Given the description of an element on the screen output the (x, y) to click on. 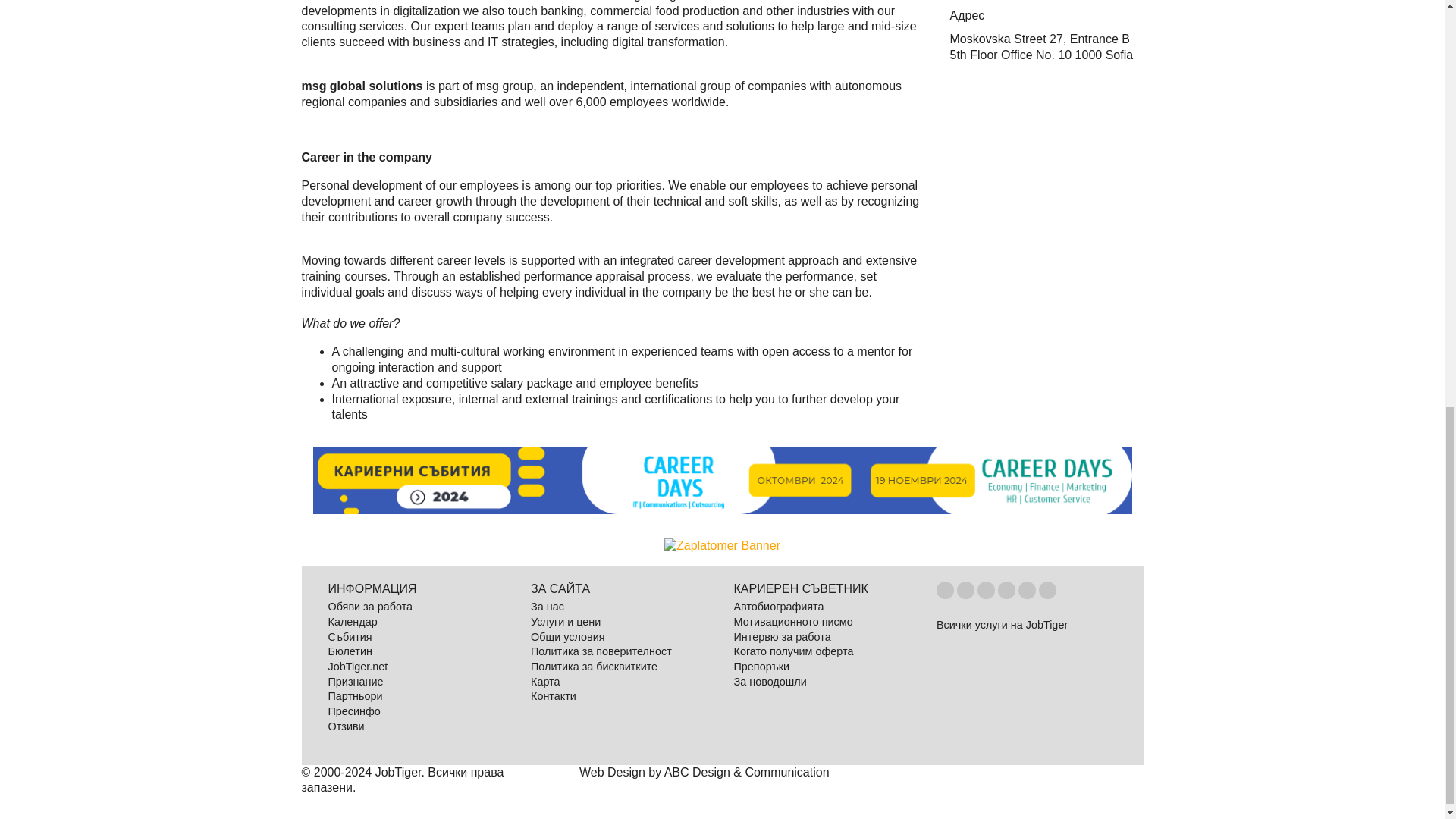
JobTiger.net (357, 666)
